Given the description of an element on the screen output the (x, y) to click on. 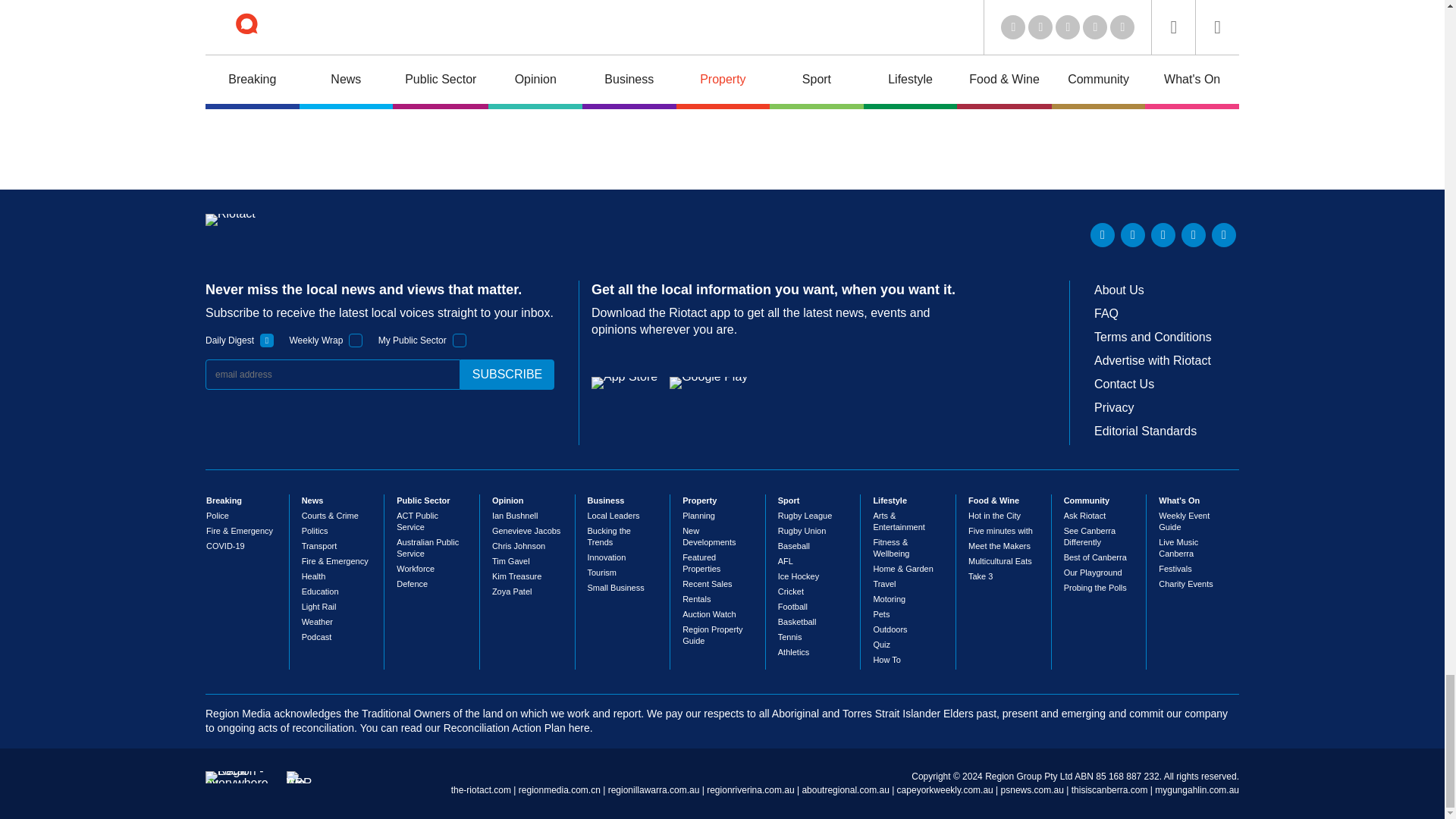
Twitter (1132, 234)
1 (266, 340)
LinkedIn (1102, 234)
1 (458, 340)
subscribe (507, 374)
Facebook (1192, 234)
App Store (624, 382)
Instagram (1223, 234)
1 (355, 340)
Youtube (1162, 234)
